Given the description of an element on the screen output the (x, y) to click on. 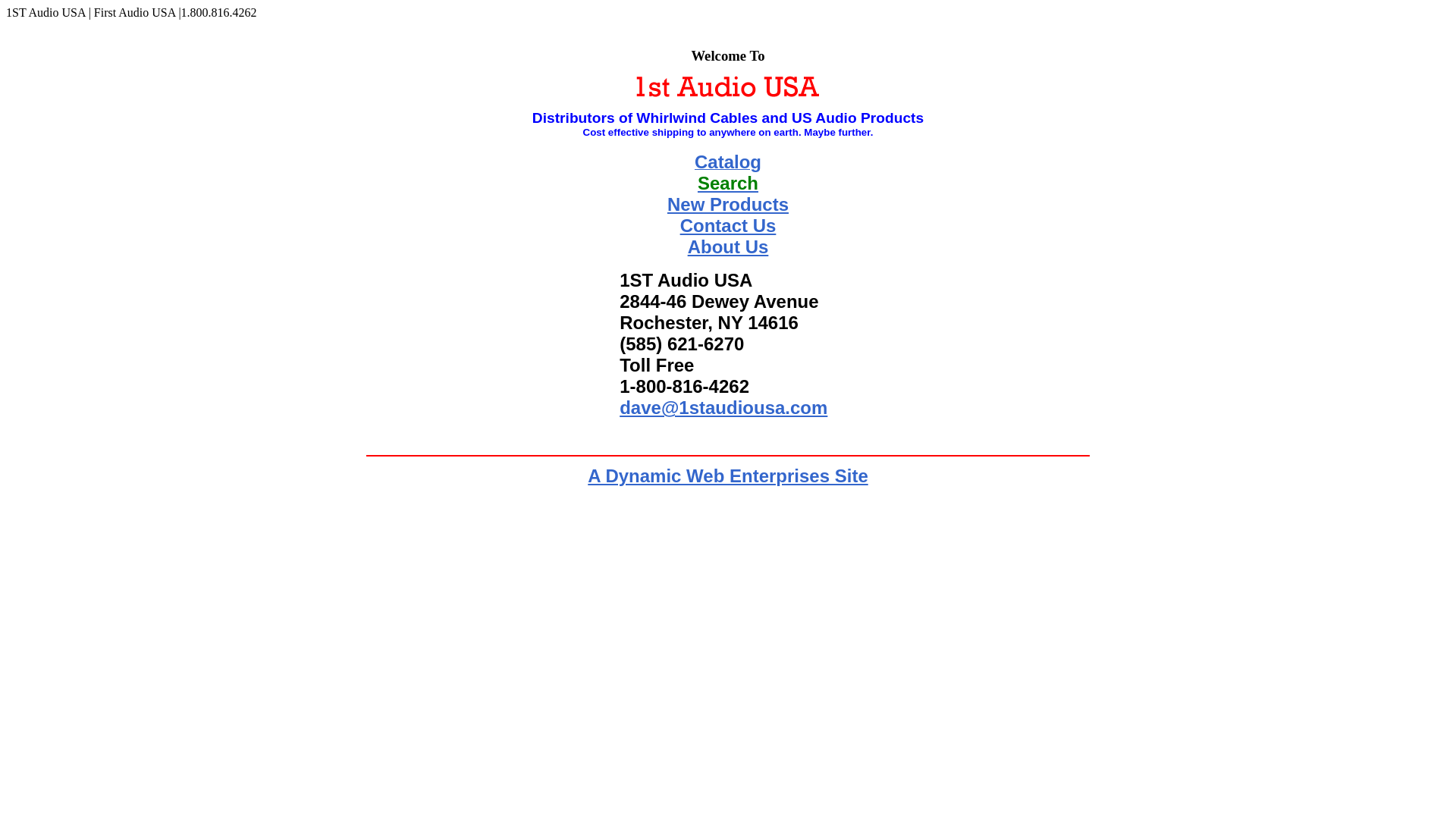
New Products Element type: text (727, 204)
Contact Us Element type: text (728, 225)
Search Element type: text (727, 182)
dave@1staudiousa.com Element type: text (723, 407)
A Dynamic Web Enterprises Site Element type: text (727, 475)
About Us Element type: text (727, 246)
Catalog Element type: text (727, 163)
